Given the description of an element on the screen output the (x, y) to click on. 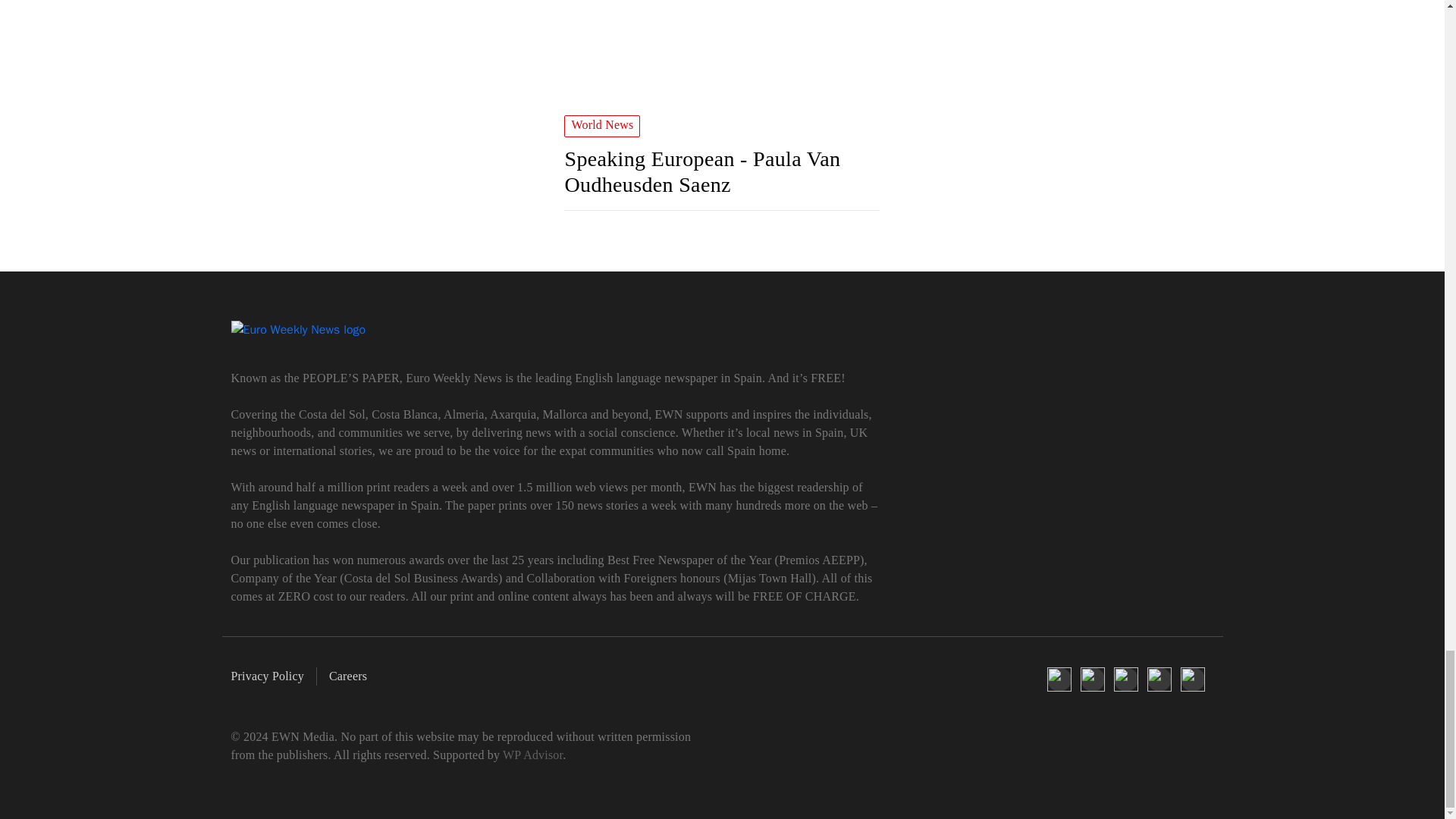
WP Advisor - WordPress done right! (532, 754)
